Given the description of an element on the screen output the (x, y) to click on. 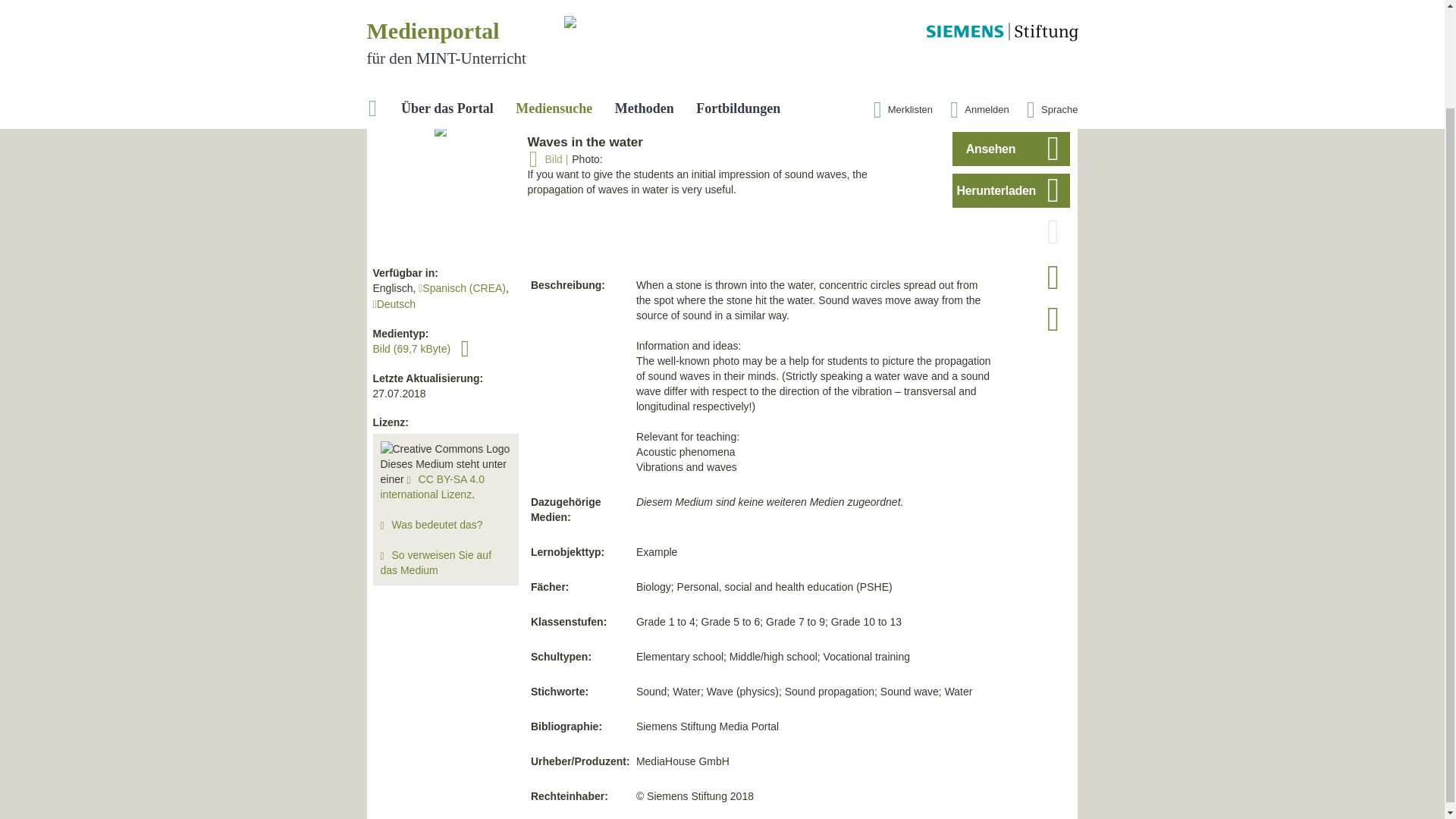
So verweisen Sie auf das Medium (436, 562)
CC BY-SA 4.0 international Lizenz (432, 486)
Creative Commons Logo (445, 448)
Ondas en el agua (462, 287)
Was bedeutet das? (436, 524)
Merklisten (899, 6)
Methoden (644, 6)
Anmelden (976, 6)
Sprache (1048, 6)
Startseite (373, 6)
